Given the description of an element on the screen output the (x, y) to click on. 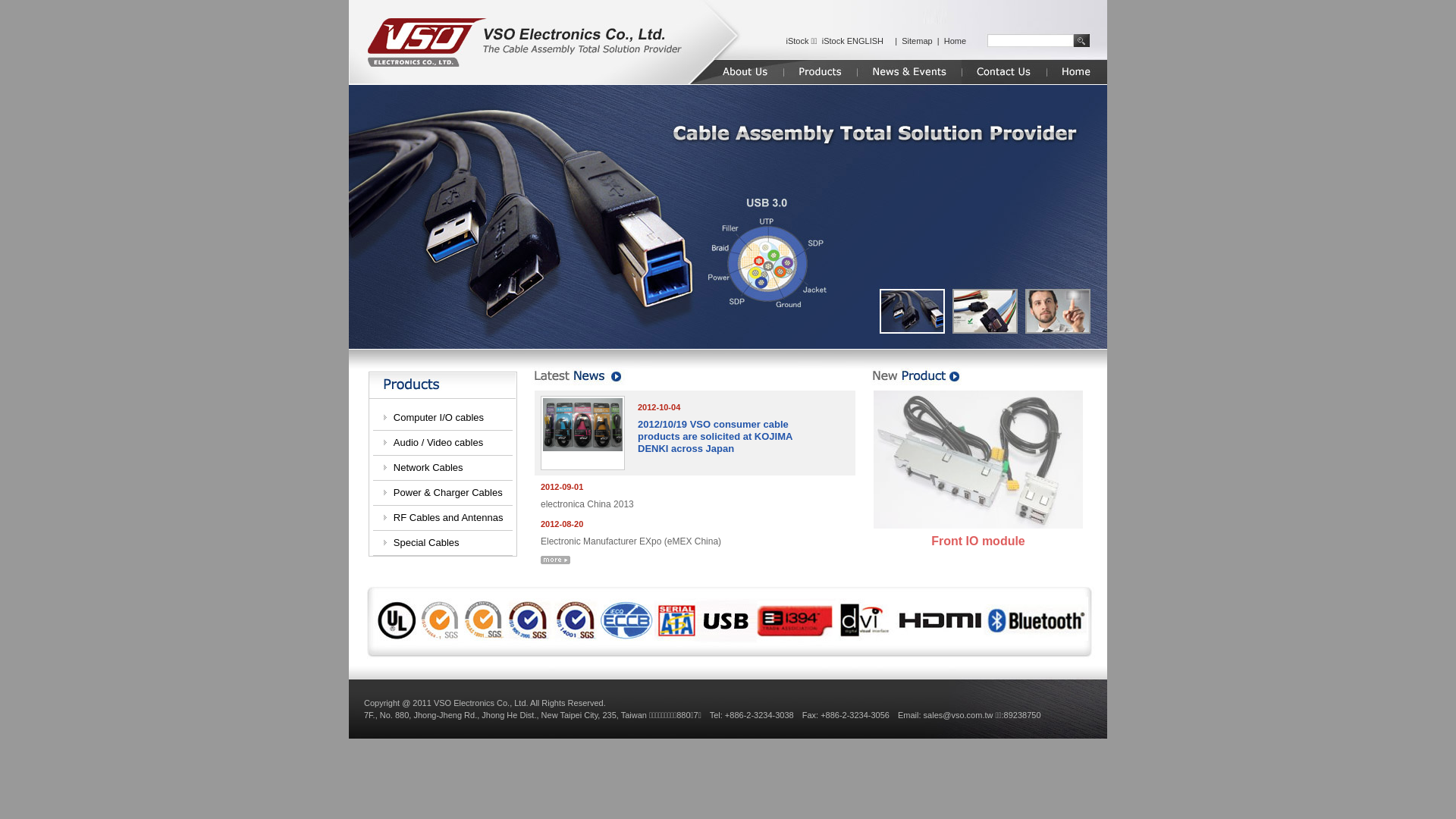
Power & Charger Cables Element type: text (447, 492)
Special Cables Element type: text (426, 542)
RF Cables and Antennas Element type: text (448, 517)
Computer I/O cables Element type: text (438, 417)
electronica China 2013 Element type: text (586, 503)
Electronic Manufacturer EXpo (eMEX China) Element type: text (630, 541)
Home Element type: text (955, 40)
iStock ENGLISH Element type: text (852, 40)
Sitemap Element type: text (916, 40)
Network Cables Element type: text (428, 467)
Audio / Video cables Element type: text (438, 442)
